Given the description of an element on the screen output the (x, y) to click on. 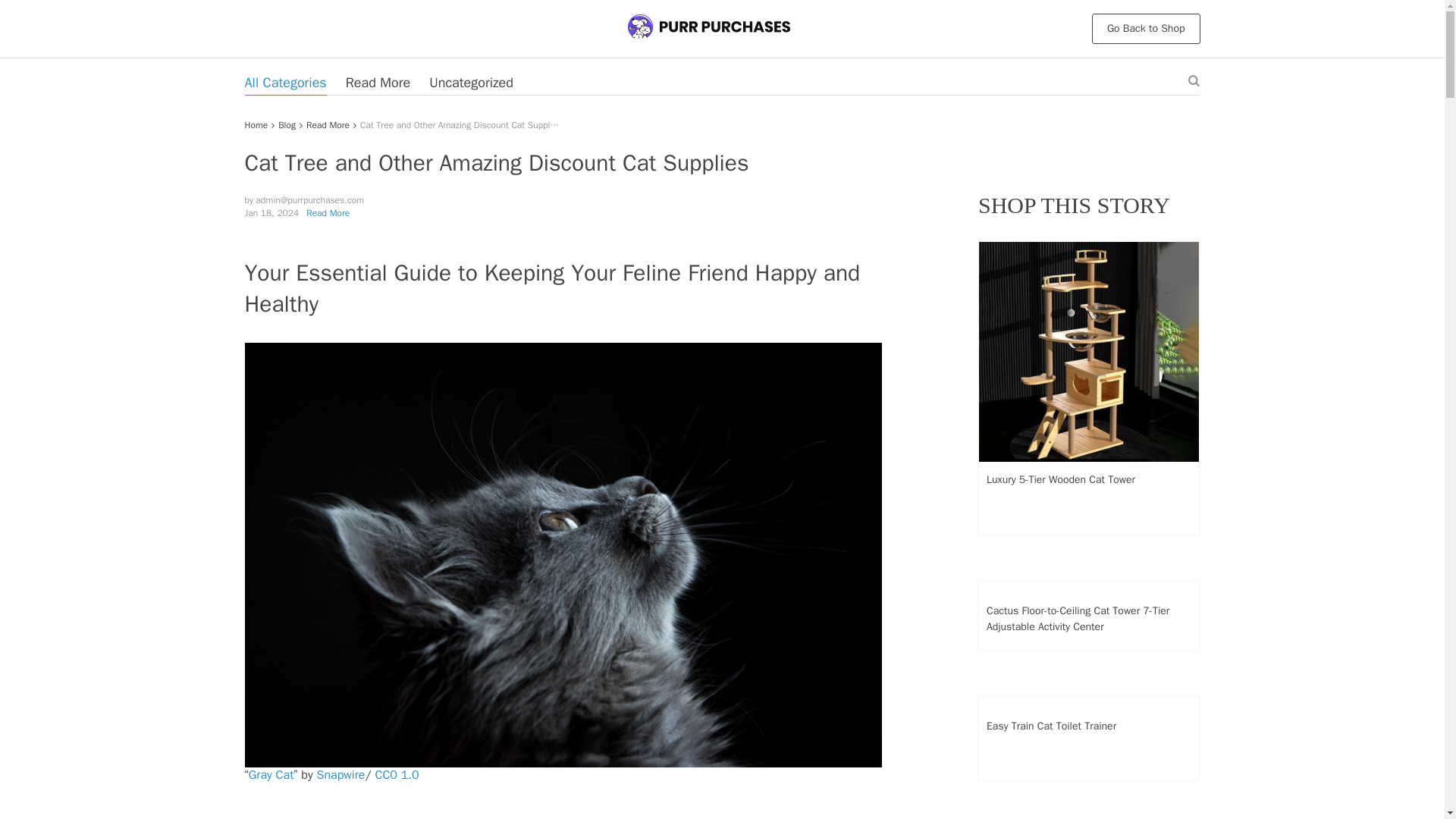
Home (255, 124)
Read More (378, 82)
Blog (286, 124)
Go Back to Shop (1145, 28)
Gray Cat (271, 774)
Snapwire (341, 774)
CC0 1.0 (396, 774)
Uncategorized (471, 82)
All Categories (285, 82)
Read More (327, 213)
